Given the description of an element on the screen output the (x, y) to click on. 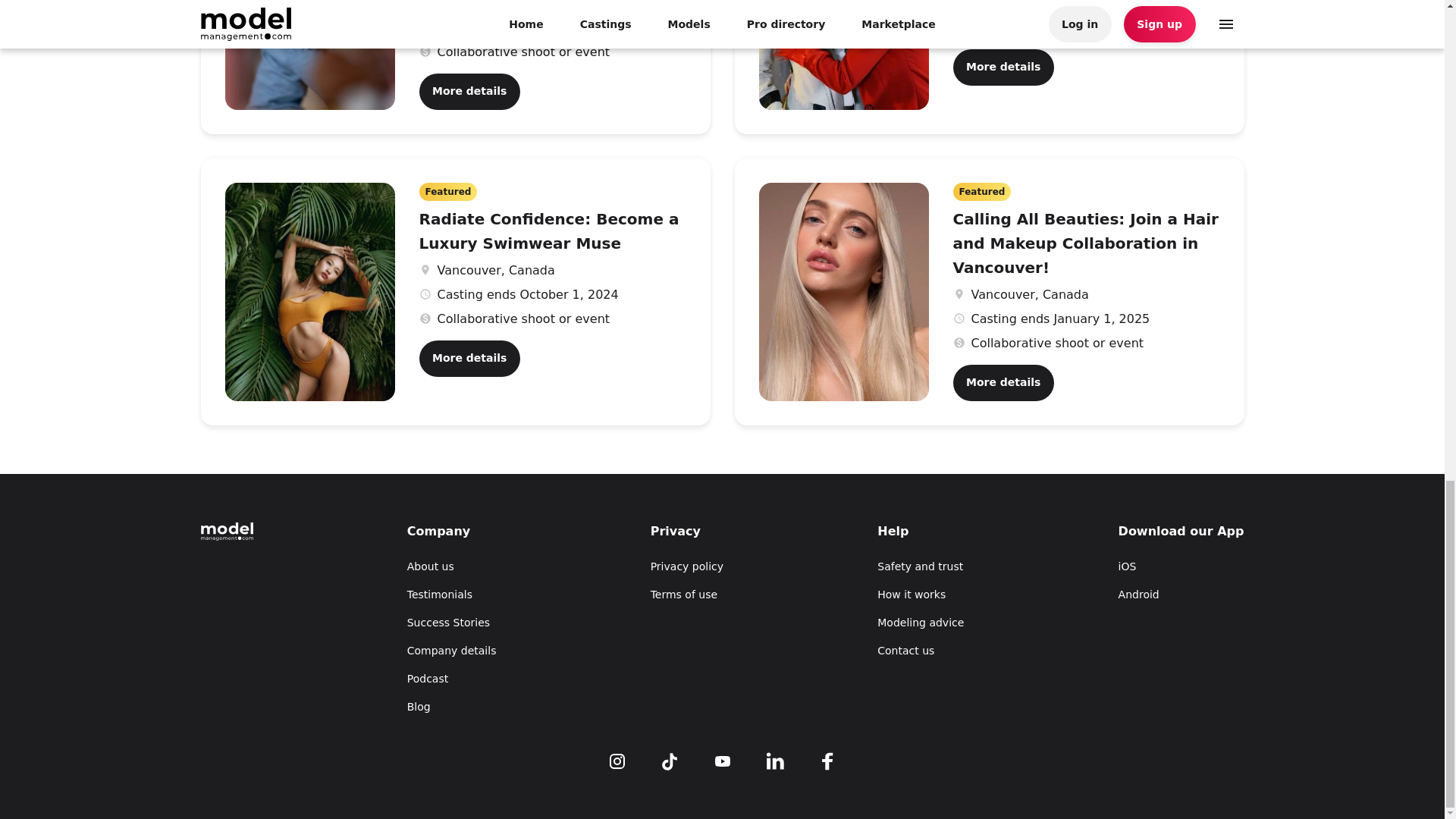
About us (451, 565)
Facebook (826, 759)
More details (469, 90)
TikTok (669, 759)
YouTube (721, 759)
More details (469, 357)
LinkedIn (774, 759)
More details (1002, 66)
Instagram (617, 759)
More details (1002, 381)
